Given the description of an element on the screen output the (x, y) to click on. 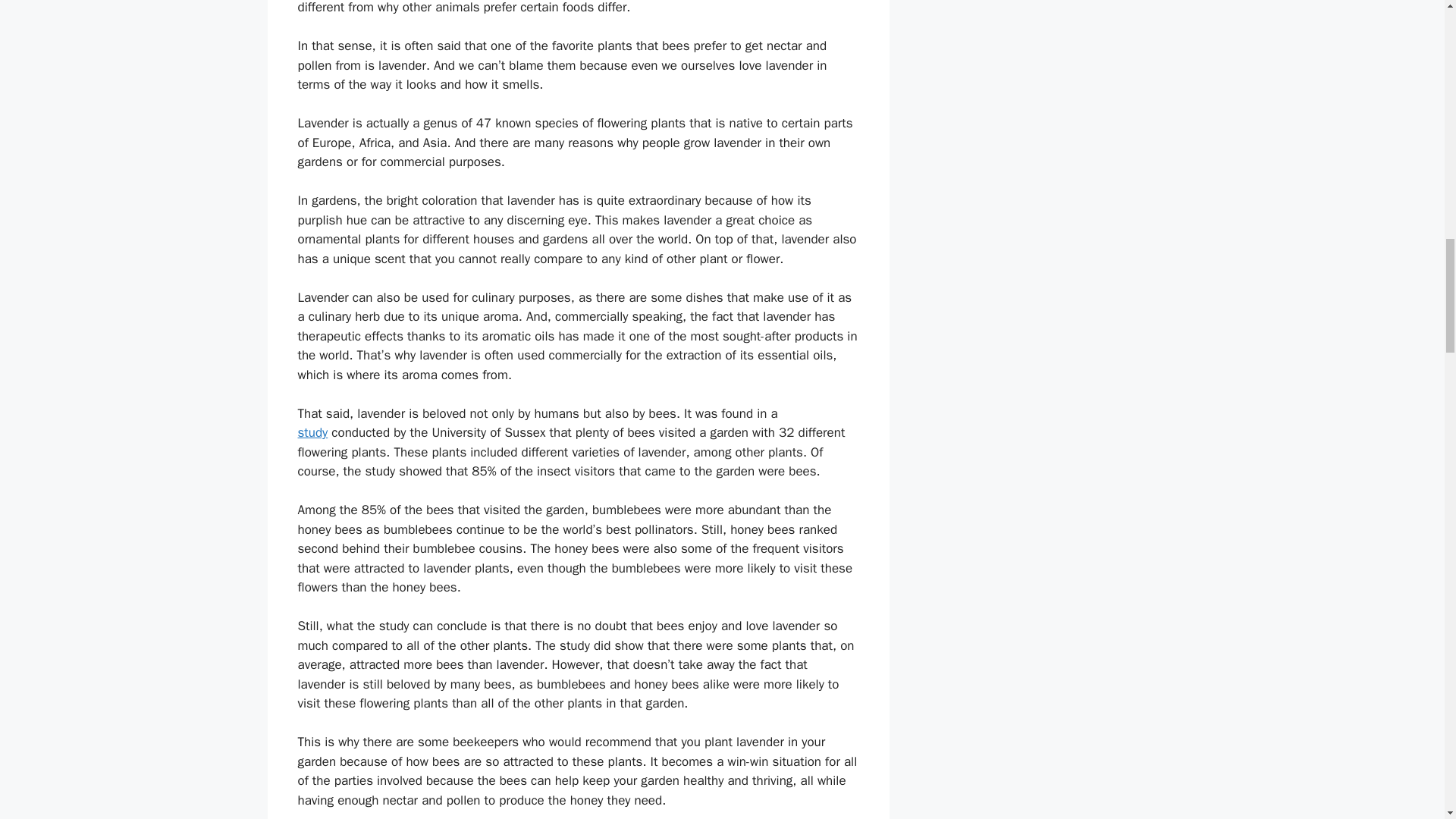
study (312, 432)
